Given the description of an element on the screen output the (x, y) to click on. 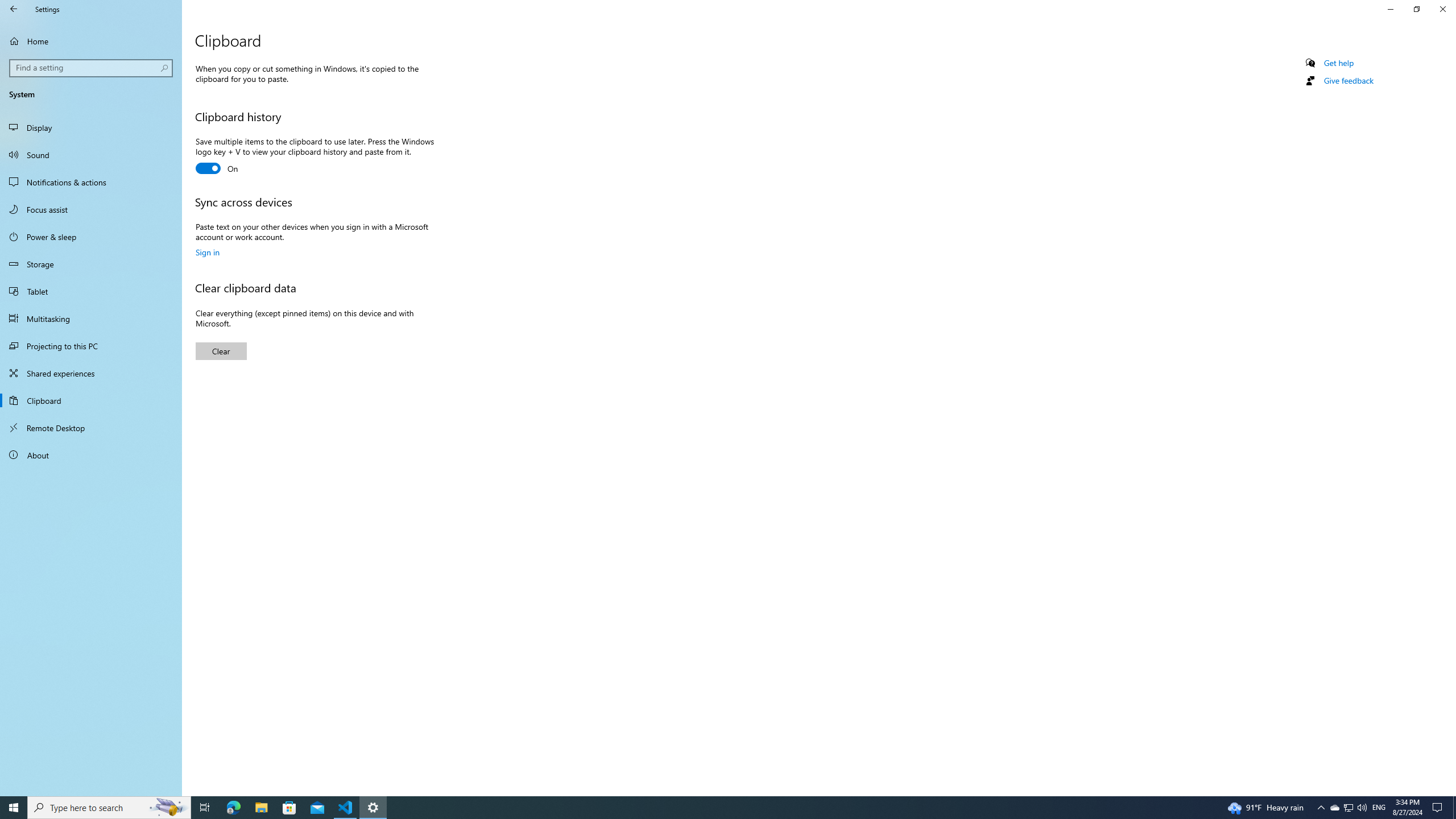
Shared experiences (91, 372)
Minimize Settings (1390, 9)
Give feedback (1348, 80)
Power & sleep (91, 236)
Projecting to this PC (91, 345)
Settings - 1 running window (373, 807)
Remote Desktop (91, 427)
Running applications (706, 807)
Close Settings (1442, 9)
Restore Settings (1416, 9)
